Given the description of an element on the screen output the (x, y) to click on. 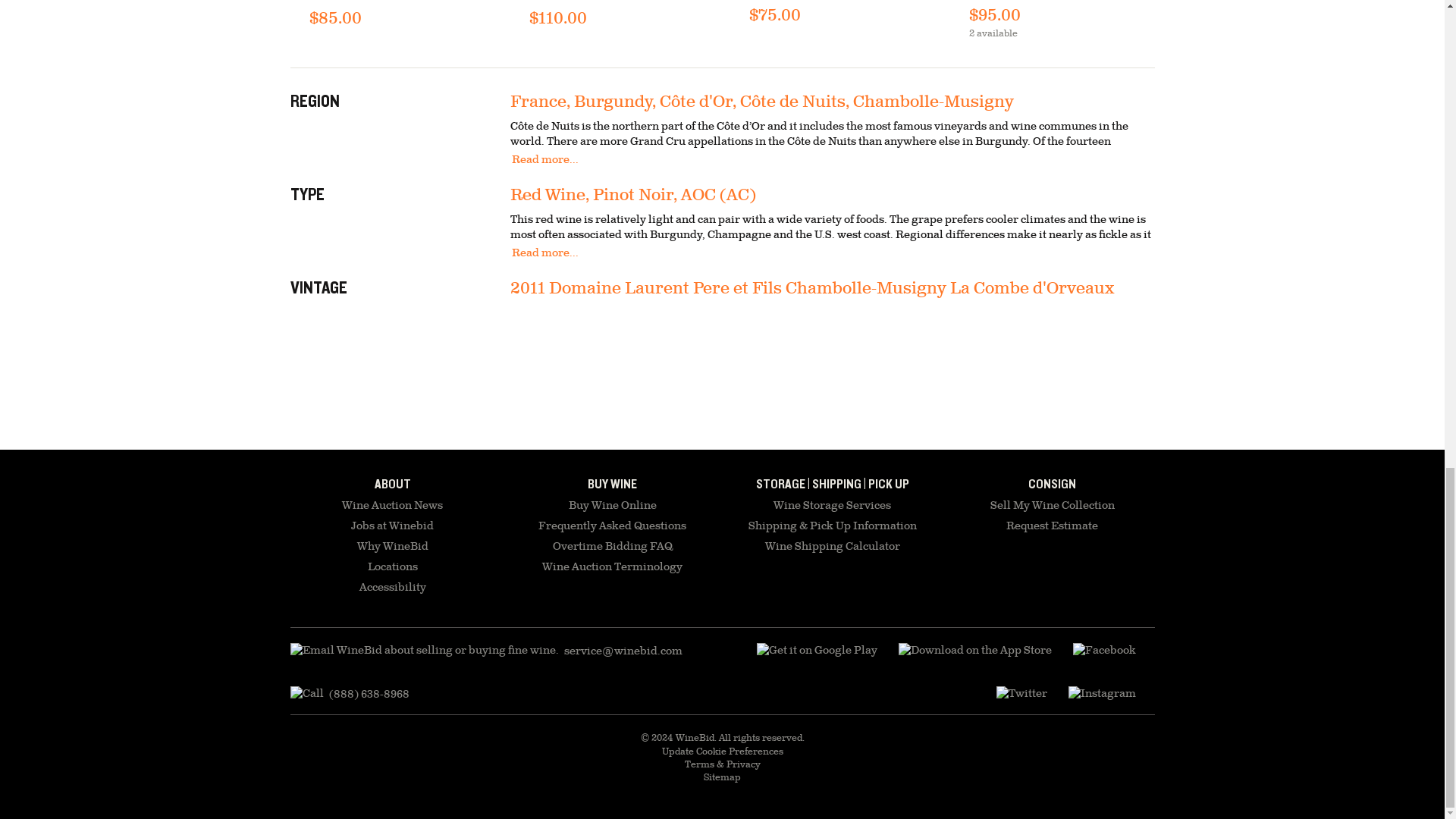
Email (485, 650)
Twitter (1020, 694)
Download on the App Store (974, 650)
Facebook (1103, 650)
Call WineBid about selling or buying fine wine. (349, 694)
Instagram (1101, 694)
Download on the App Store (817, 650)
